Given the description of an element on the screen output the (x, y) to click on. 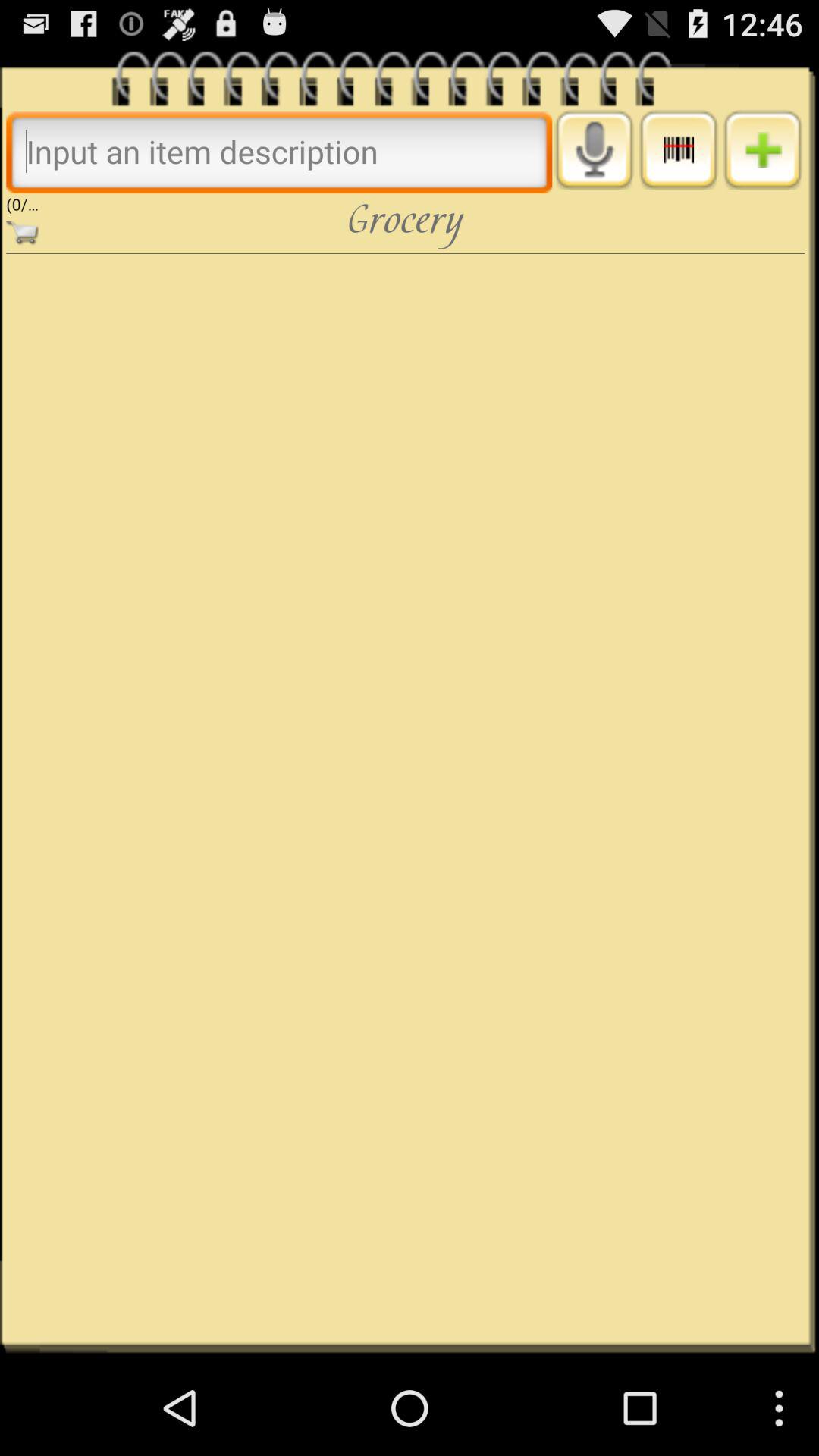
click icon at the center (405, 796)
